Given the description of an element on the screen output the (x, y) to click on. 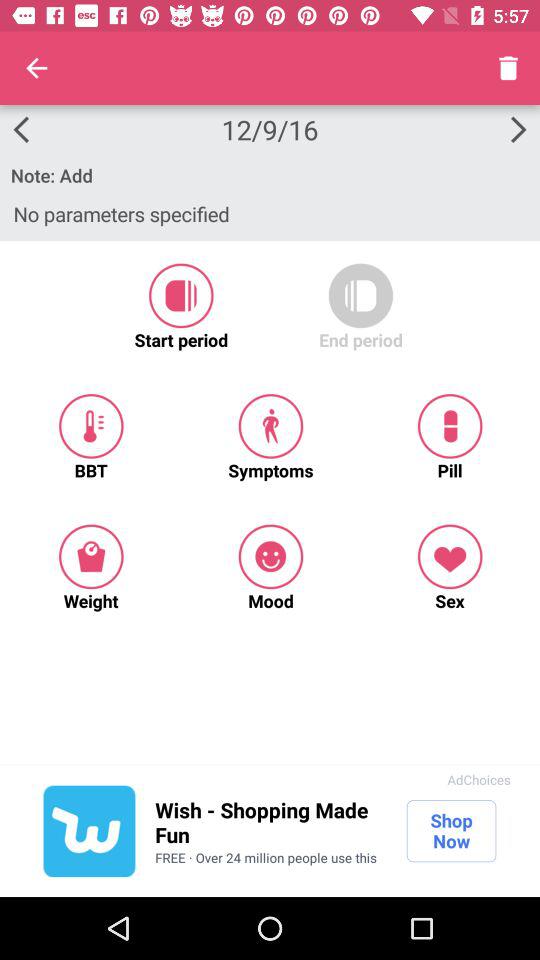
click the icon next to the 12/9/16 (36, 68)
